Given the description of an element on the screen output the (x, y) to click on. 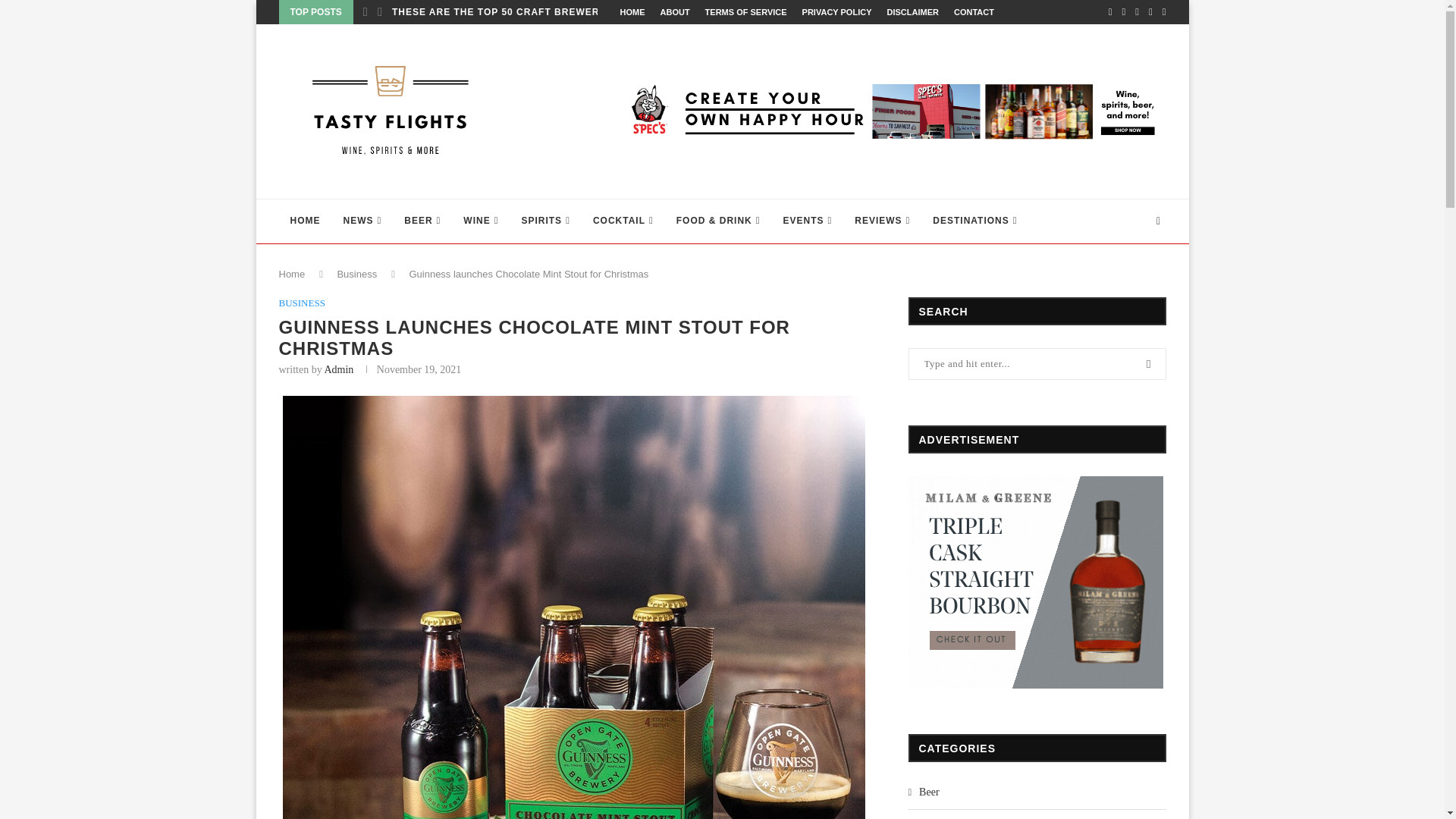
DISCLAIMER (911, 12)
TERMS OF SERVICE (745, 12)
HOME (632, 12)
ABOUT (673, 12)
THESE ARE THE TOP 50 CRAFT BREWERIES OF... (517, 12)
CONTACT (973, 12)
PRIVACY POLICY (837, 12)
NEWS (362, 221)
HOME (305, 221)
